Given the description of an element on the screen output the (x, y) to click on. 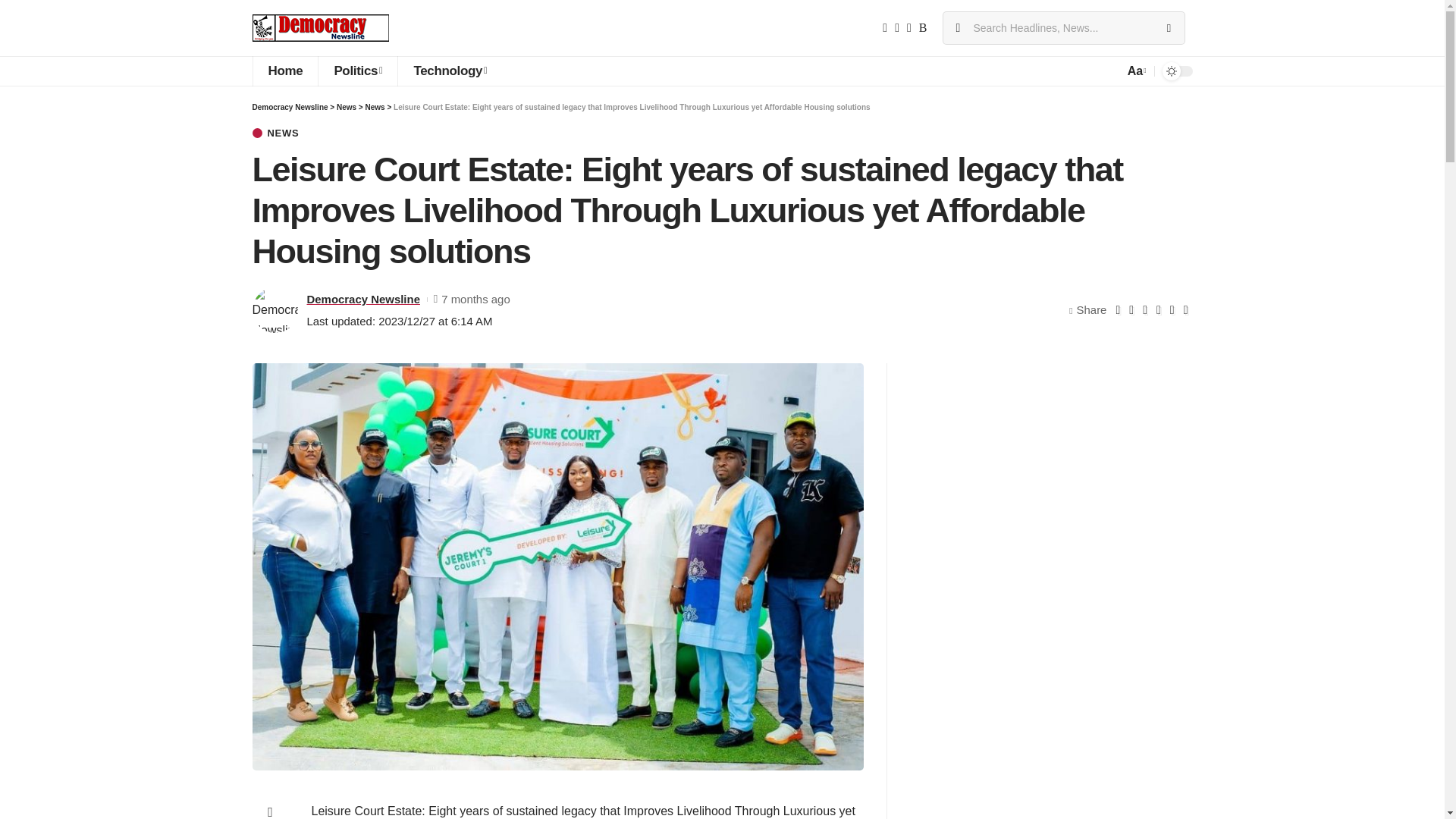
Politics (357, 71)
Search (1168, 28)
Technology (449, 71)
Democracy Newsline (319, 27)
Home (284, 71)
